Given the description of an element on the screen output the (x, y) to click on. 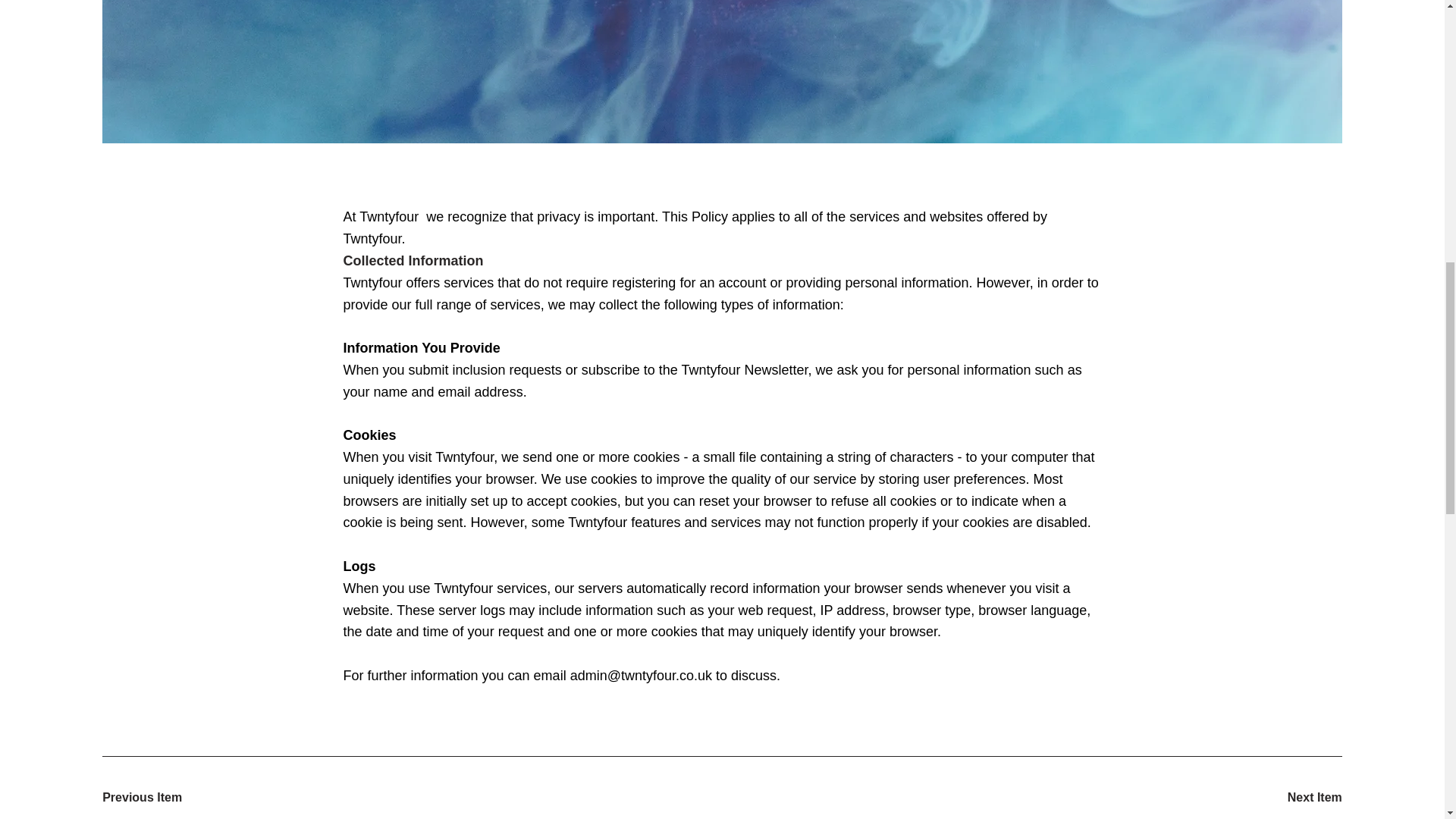
Next Item (1288, 798)
Previous Item (155, 798)
